Given the description of an element on the screen output the (x, y) to click on. 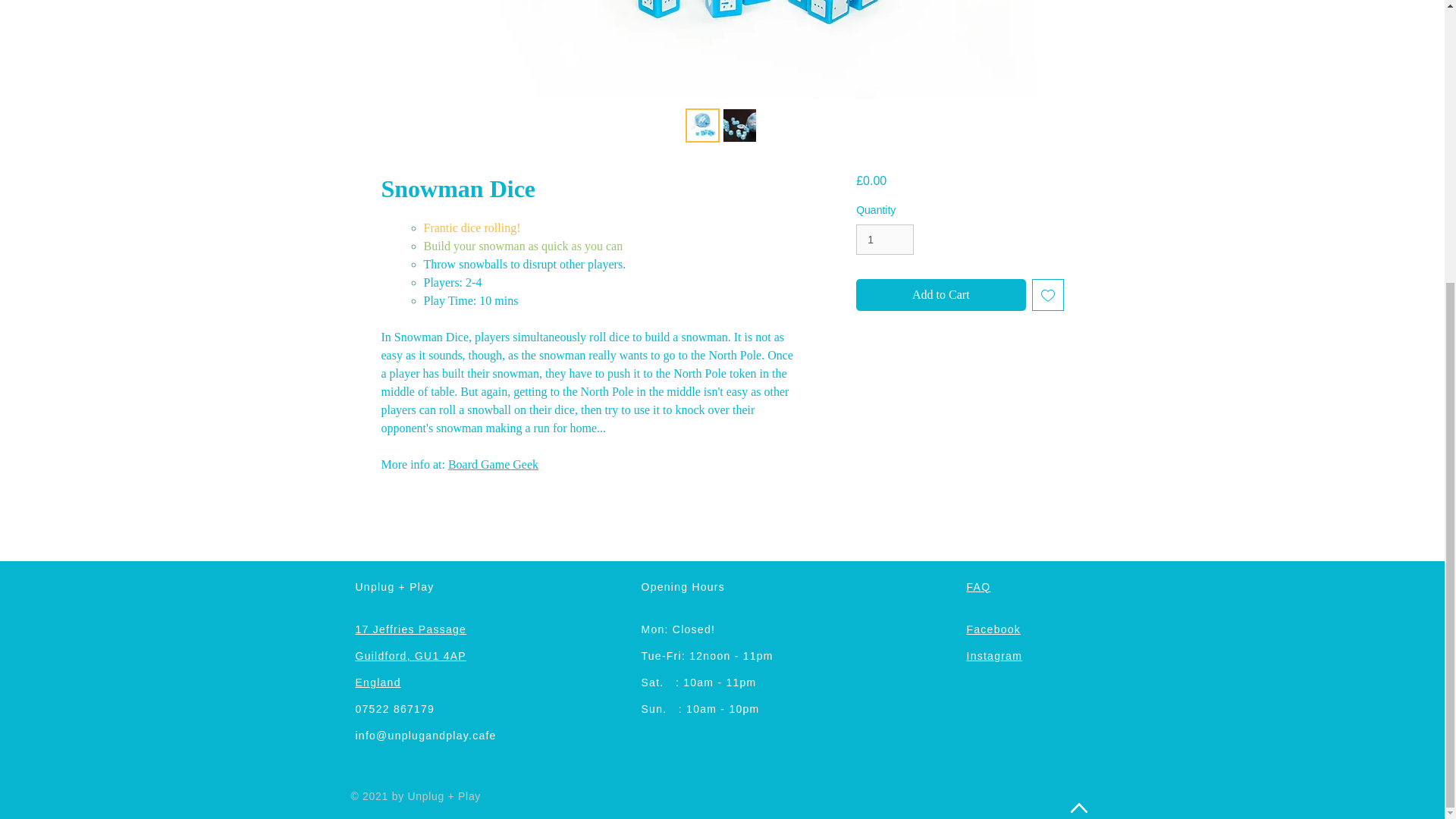
Add to Cart (940, 295)
1 (885, 239)
17 Jeffries Passage (410, 629)
Instagram (994, 655)
FAQ (978, 586)
Facebook (993, 629)
Board Game Geek (493, 463)
Mon: Closed! (679, 629)
England (377, 682)
Guildford, GU1 4AP (410, 655)
